Given the description of an element on the screen output the (x, y) to click on. 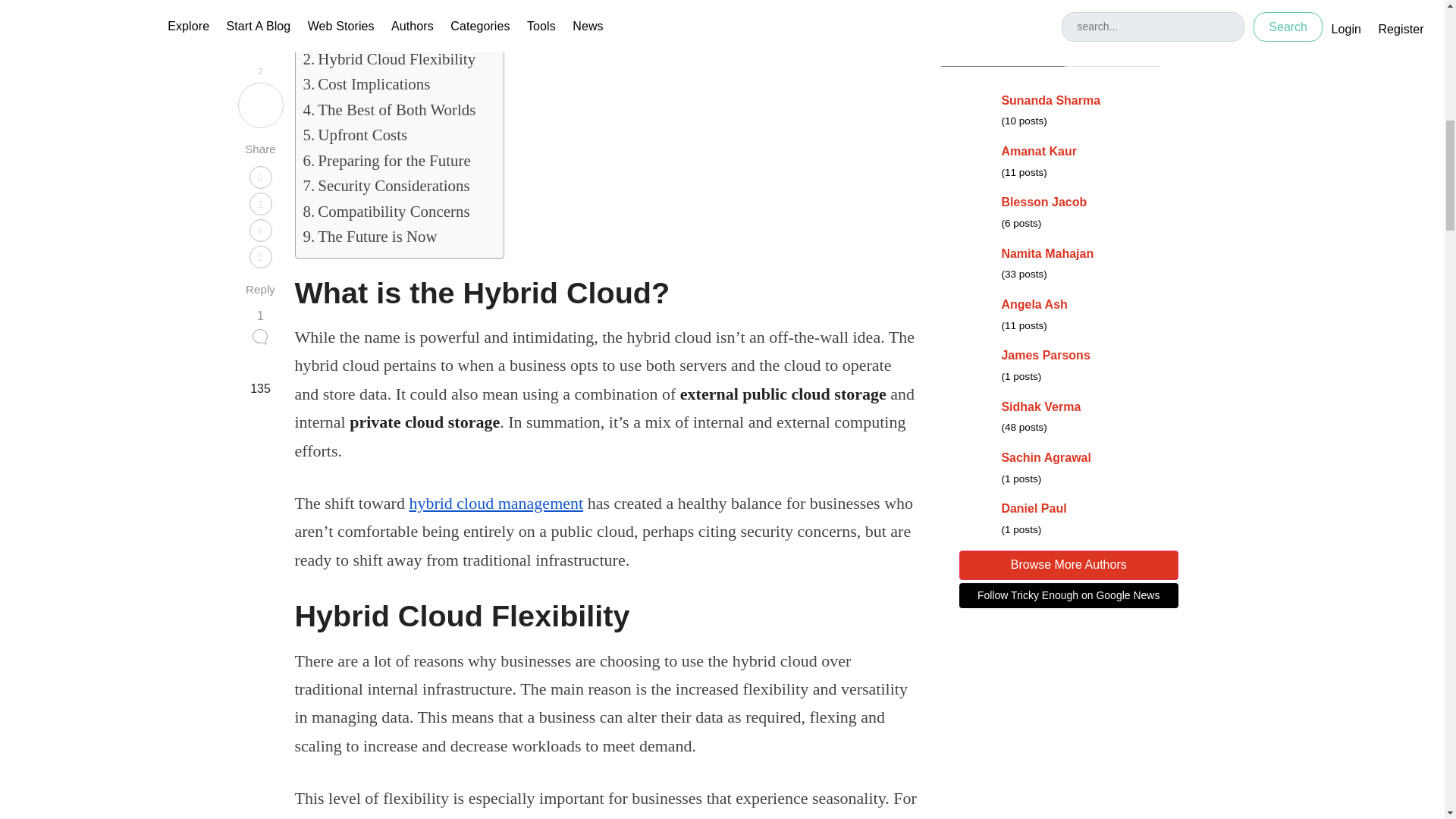
Upfront Costs (354, 135)
What is the Hybrid Cloud? (395, 34)
Security Considerations (386, 186)
The Future is Now (370, 236)
Security Considerations (386, 186)
hybrid cloud management (496, 502)
The Future is Now (370, 236)
The Best of Both Worlds (389, 109)
Preparing for the Future (386, 160)
Compatibility Concerns (386, 211)
